Given the description of an element on the screen output the (x, y) to click on. 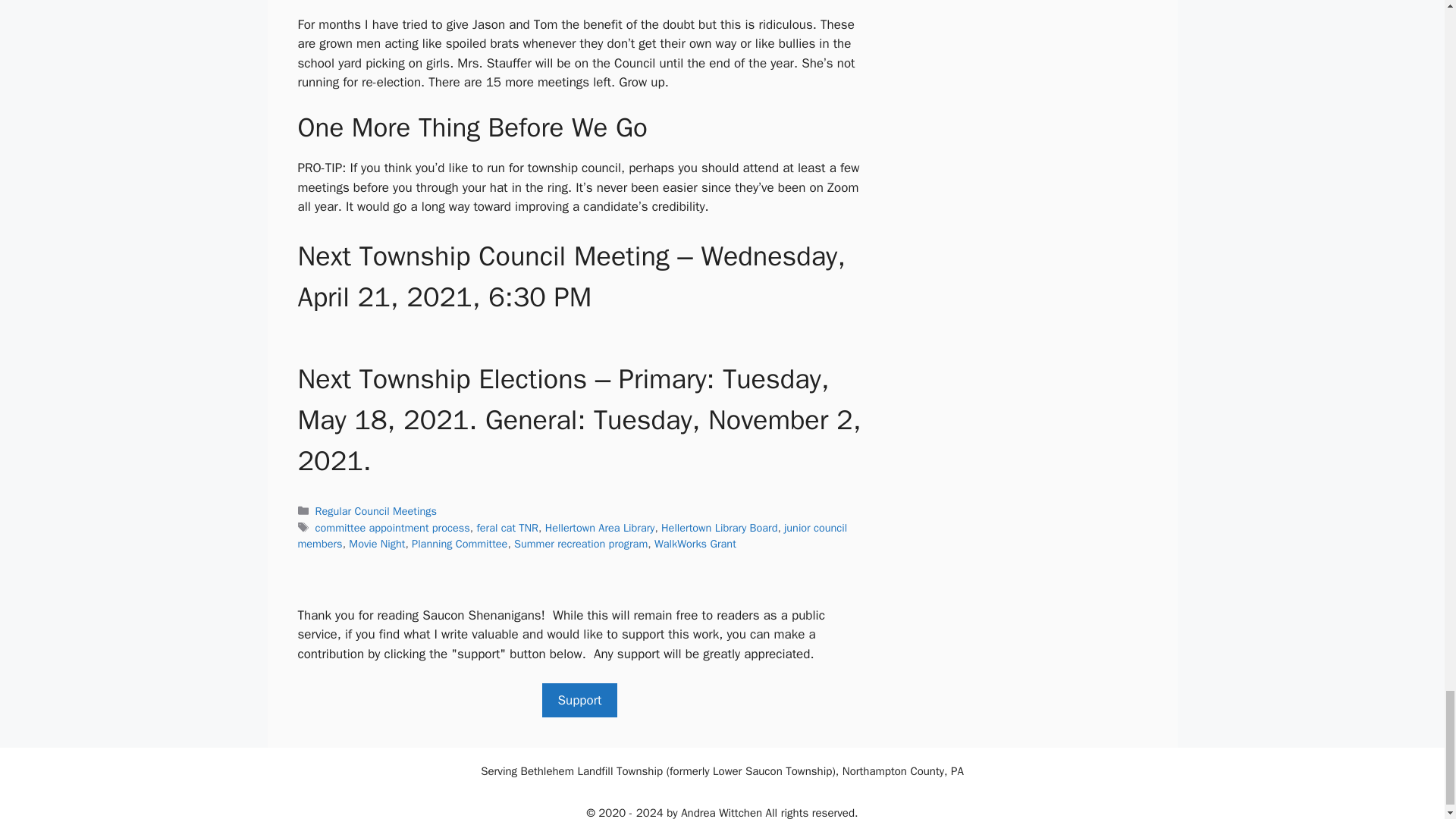
Regular Council Meetings (375, 510)
Hellertown Library Board (719, 527)
Movie Night (376, 543)
feral cat TNR (507, 527)
Planning Committee (459, 543)
WalkWorks Grant (694, 543)
junior council members (572, 535)
committee appointment process (392, 527)
Summer recreation program (580, 543)
Support (578, 700)
